Given the description of an element on the screen output the (x, y) to click on. 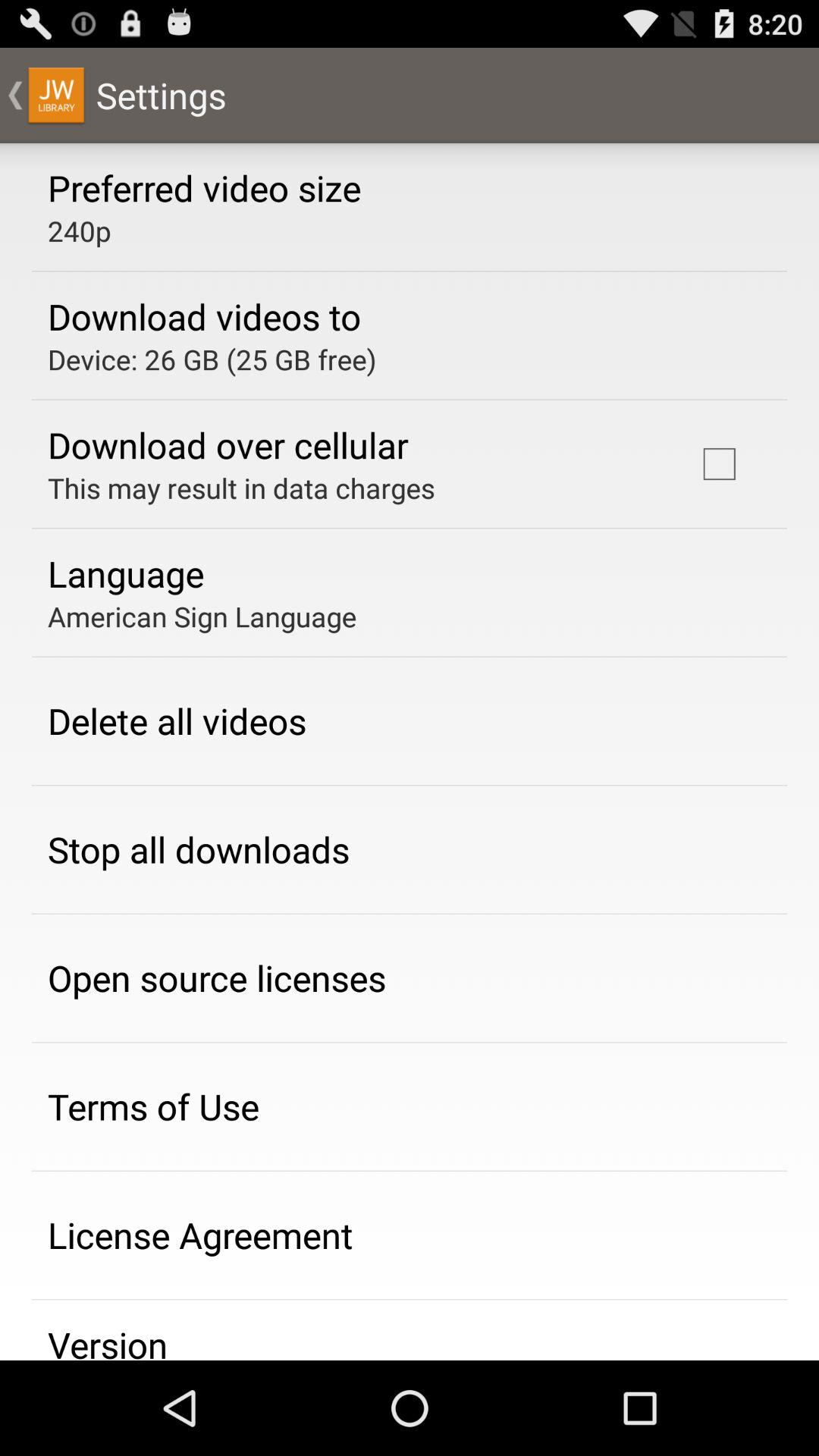
turn off the app below terms of use icon (200, 1234)
